Given the description of an element on the screen output the (x, y) to click on. 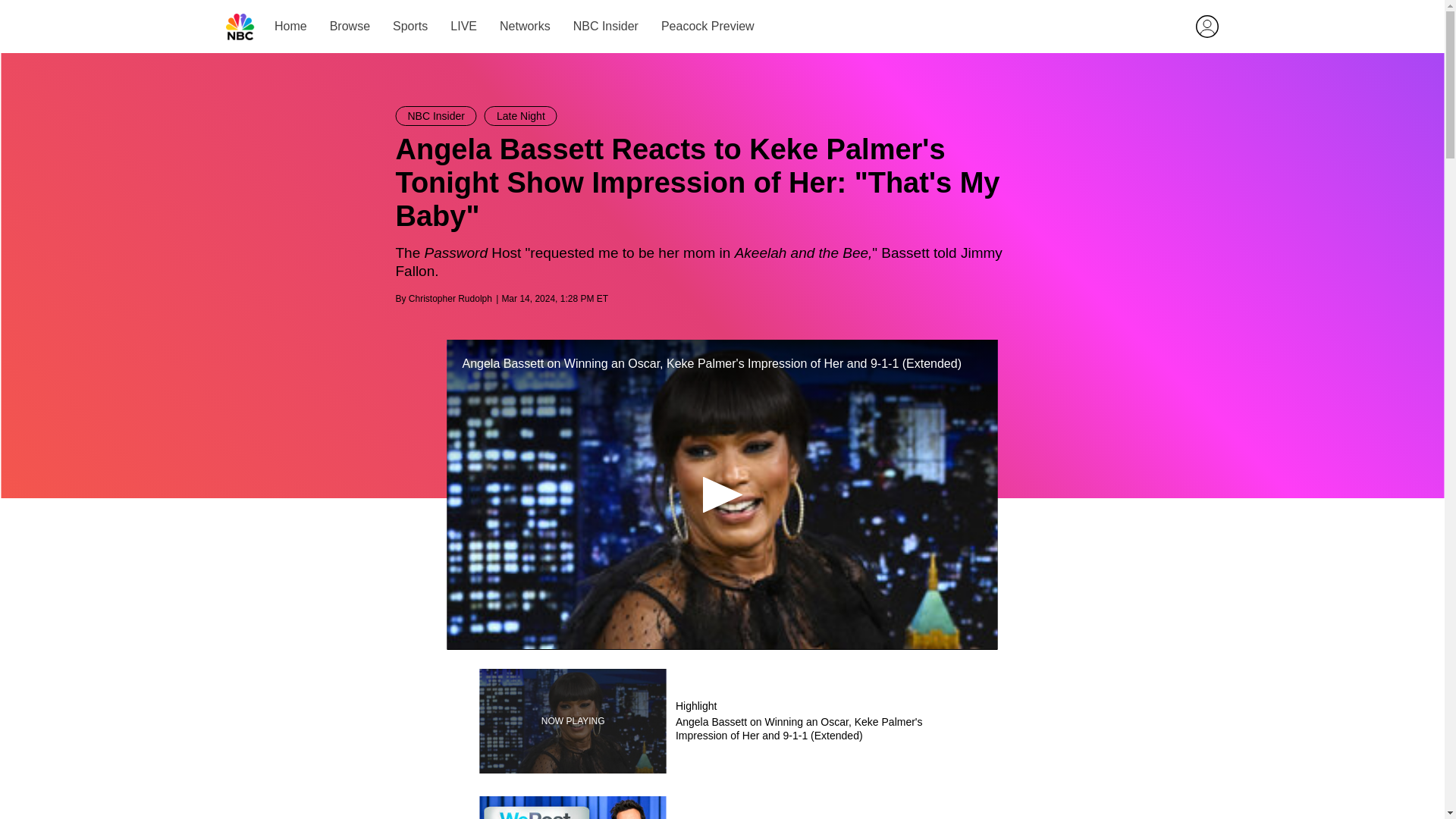
Skip to main content (721, 807)
Christopher Rudolph (520, 116)
Home (450, 298)
NBC (291, 26)
Peacock Preview (239, 26)
NBC Insider (707, 26)
Networks (604, 26)
